Given the description of an element on the screen output the (x, y) to click on. 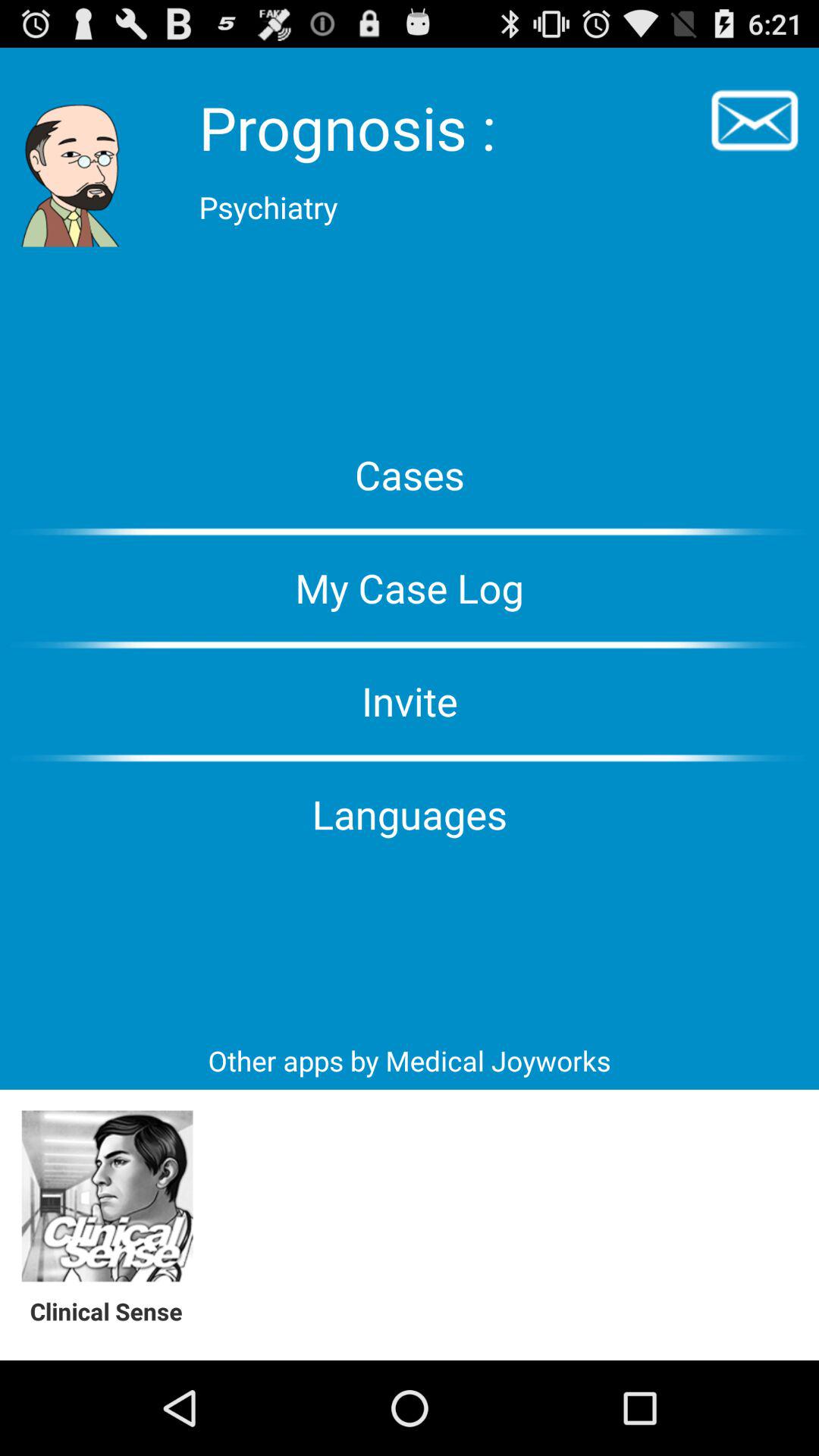
launch my case log button (409, 587)
